Given the description of an element on the screen output the (x, y) to click on. 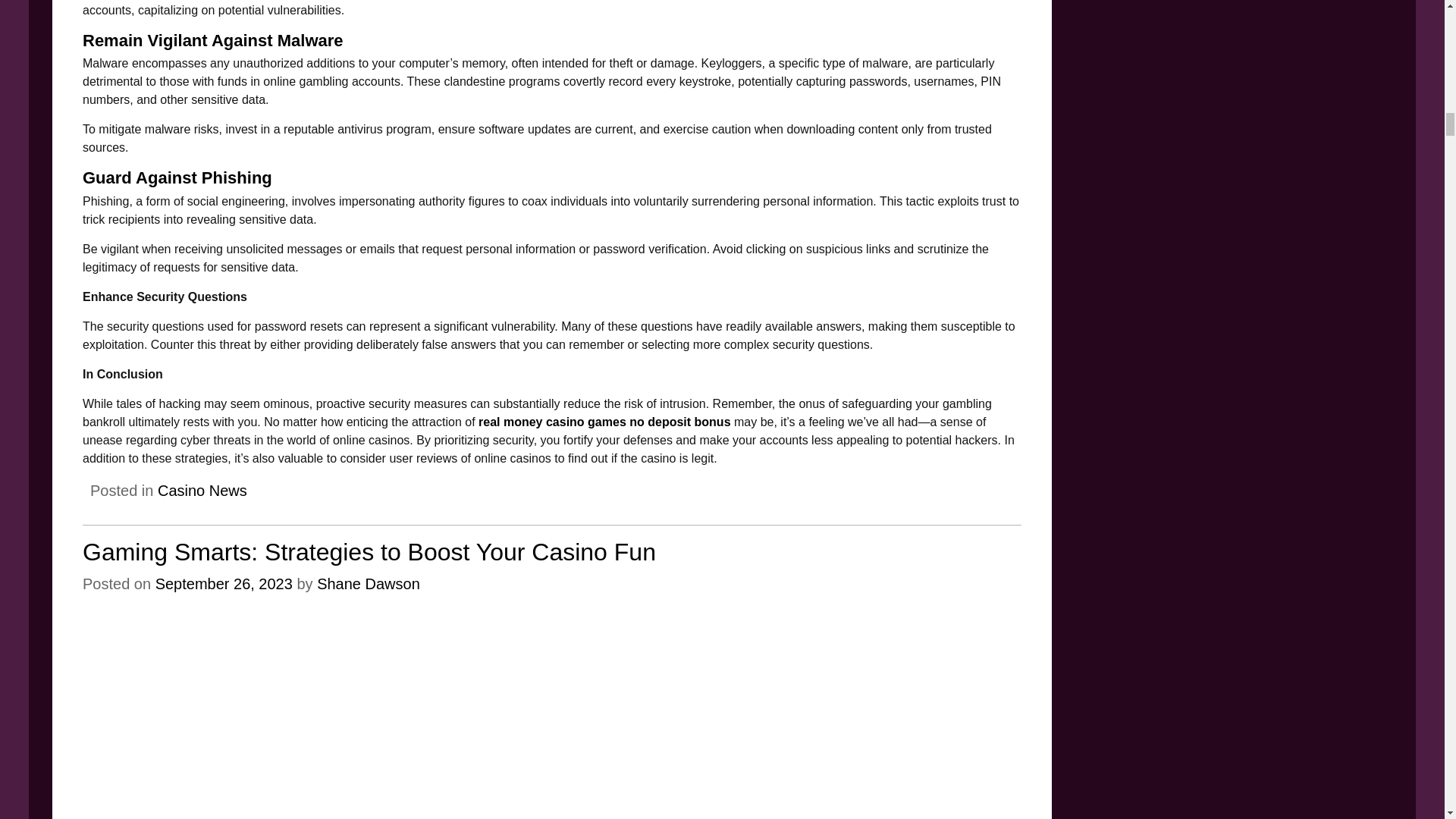
Gaming Smarts: Strategies to Boost Your Casino Fun (369, 551)
September 26, 2023 (223, 583)
Casino News (202, 490)
real money casino games no deposit bonus (604, 421)
Shane Dawson (368, 583)
